Given the description of an element on the screen output the (x, y) to click on. 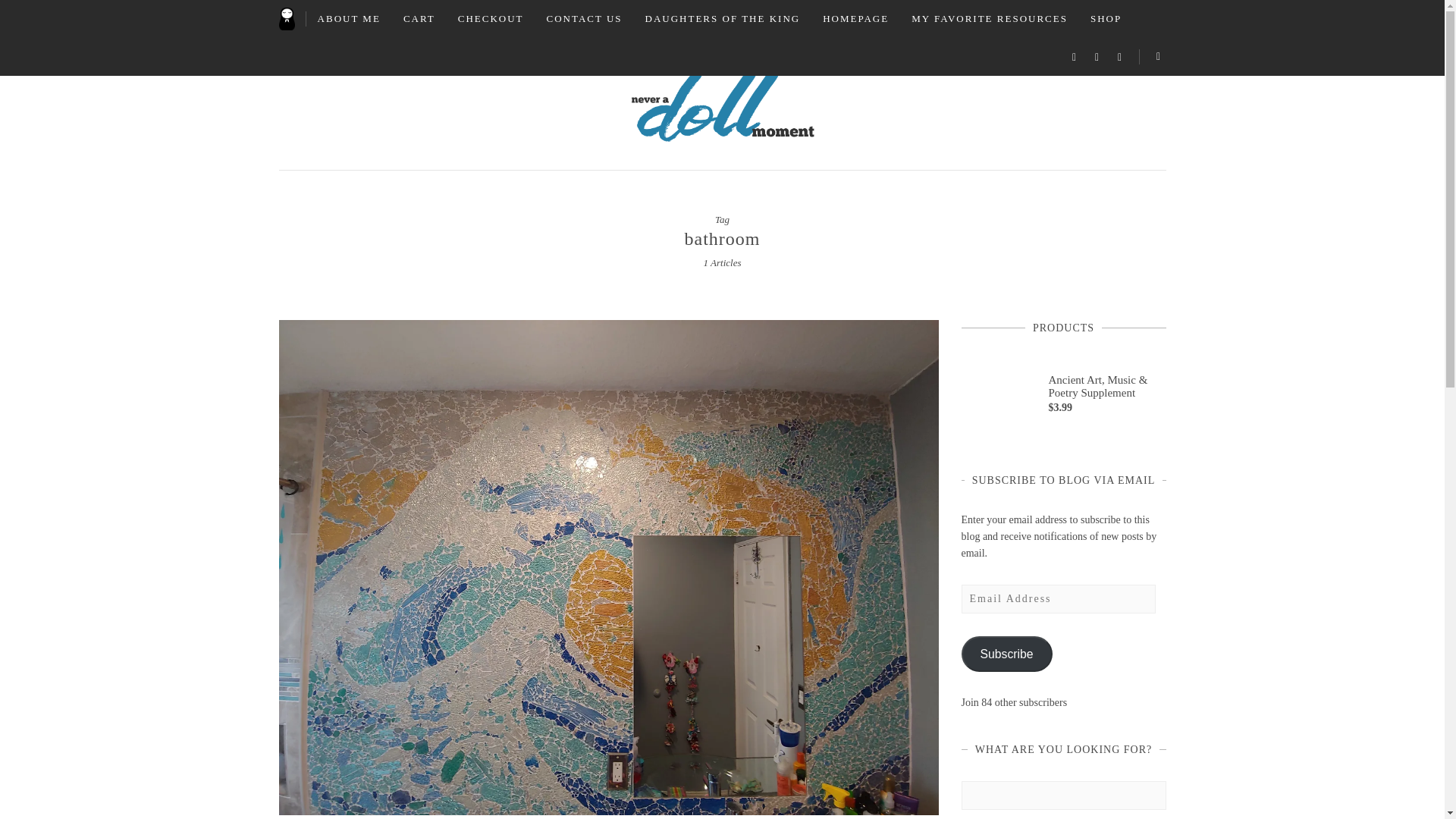
DAUGHTERS OF THE KING (722, 18)
SHOP (1105, 18)
CONTACT US (584, 18)
CHECKOUT (490, 18)
ABOUT ME (348, 18)
CART (418, 18)
Subscribe (1006, 653)
HOMEPAGE (854, 18)
MY FAVORITE RESOURCES (988, 18)
